Given the description of an element on the screen output the (x, y) to click on. 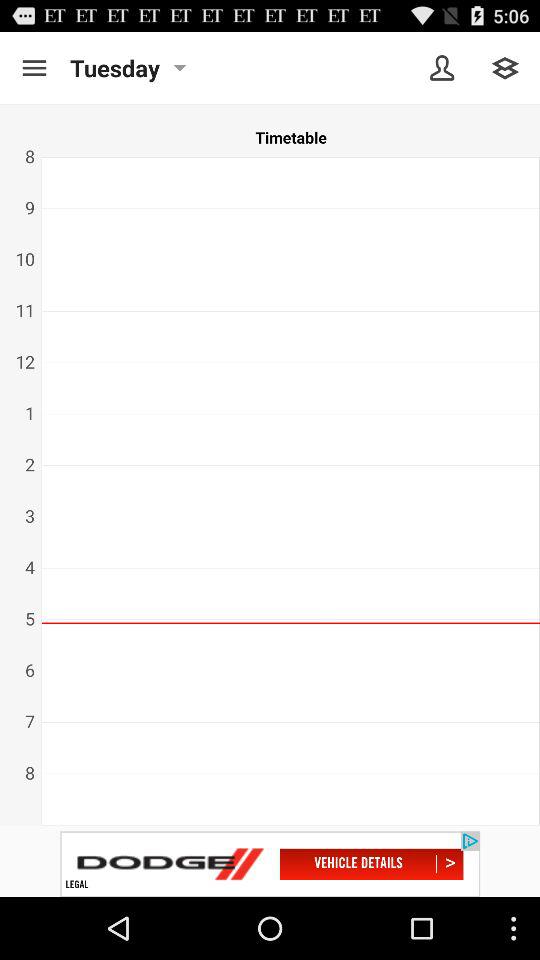
show layer (505, 68)
